Given the description of an element on the screen output the (x, y) to click on. 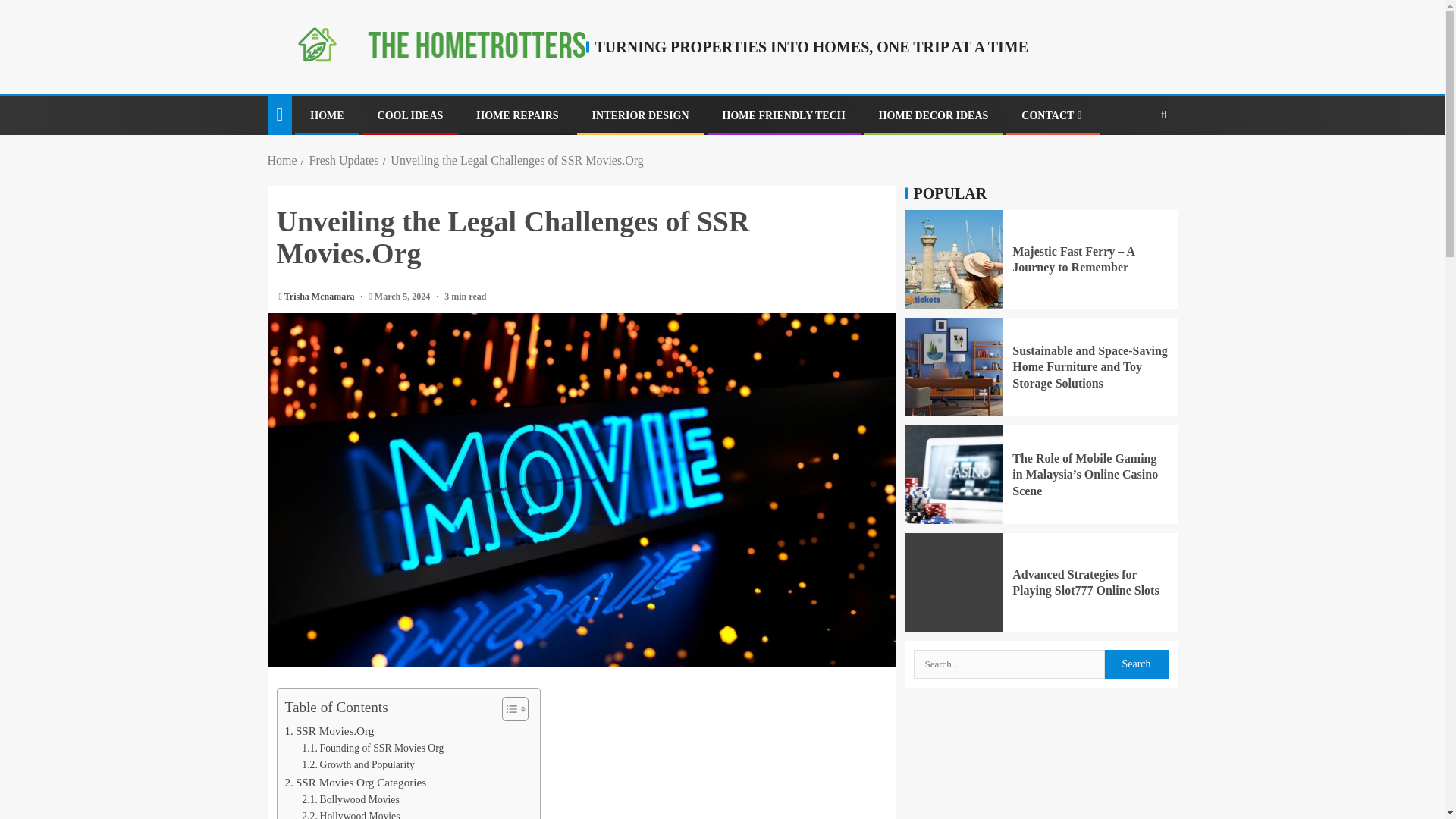
HOME REPAIRS (516, 115)
SSR Movies.Org (329, 730)
Growth and Popularity (357, 764)
COOL IDEAS (410, 115)
SSR Movies Org Categories (355, 782)
HOME FRIENDLY TECH (783, 115)
Search (1135, 664)
Search (1163, 114)
Search (1133, 161)
Hollywood Movies (349, 813)
Bollywood Movies (349, 799)
SSR Movies.Org (329, 730)
Fresh Updates (343, 160)
HOME (326, 115)
Founding of SSR Movies Org (372, 748)
